Given the description of an element on the screen output the (x, y) to click on. 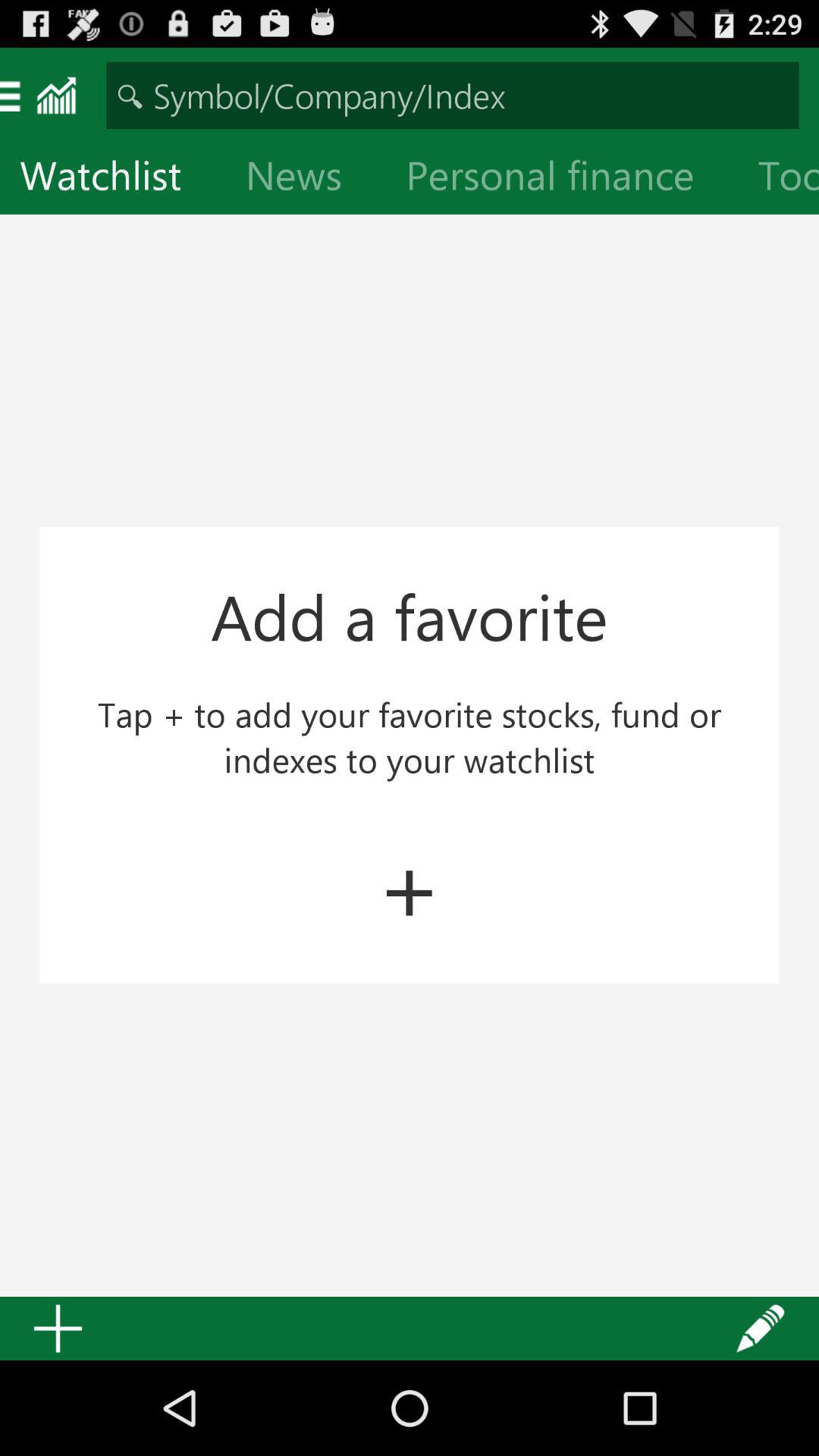
turn off item above the add a favorite item (562, 178)
